Given the description of an element on the screen output the (x, y) to click on. 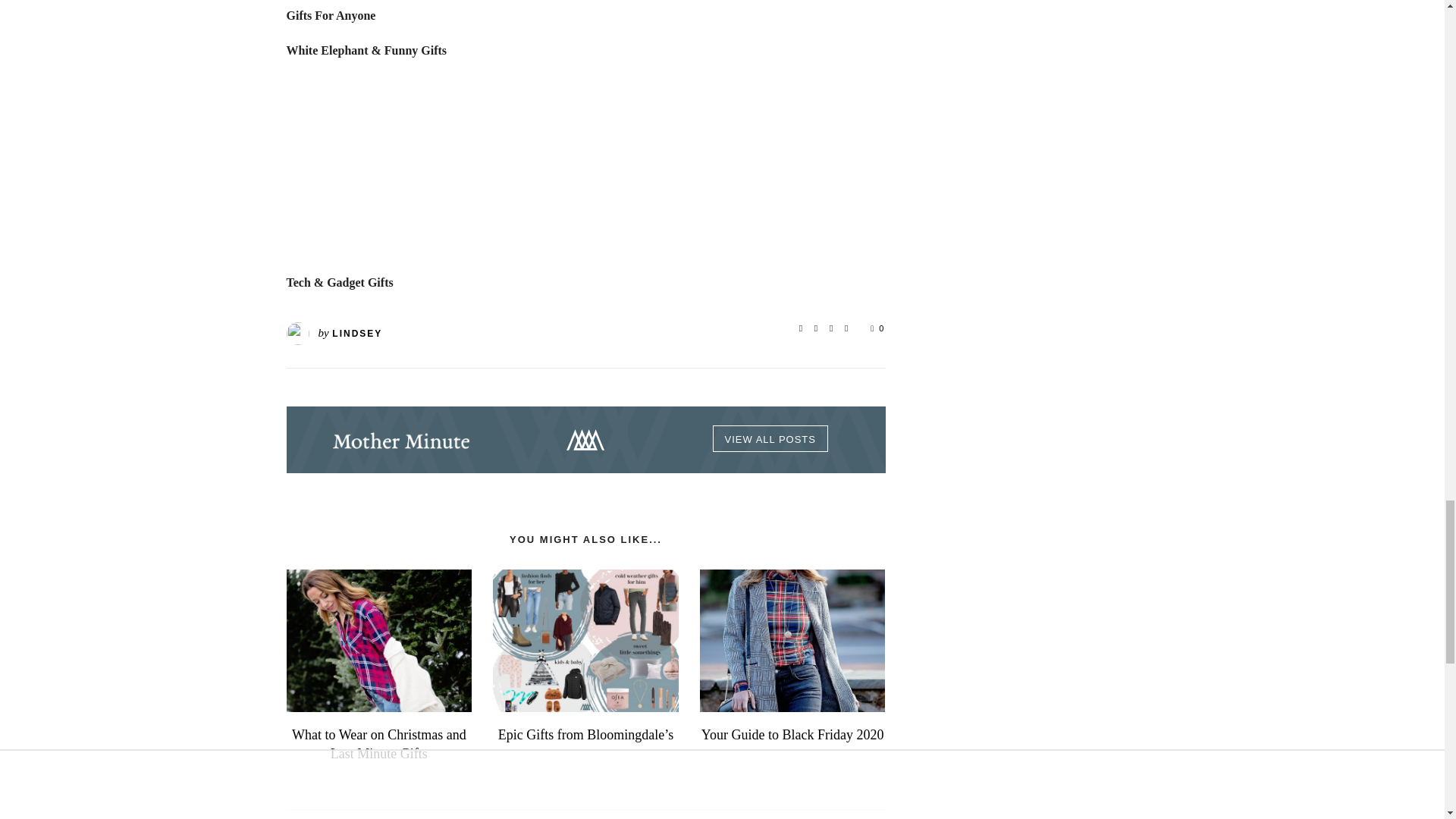
Posts by Lindsey (356, 333)
